Given the description of an element on the screen output the (x, y) to click on. 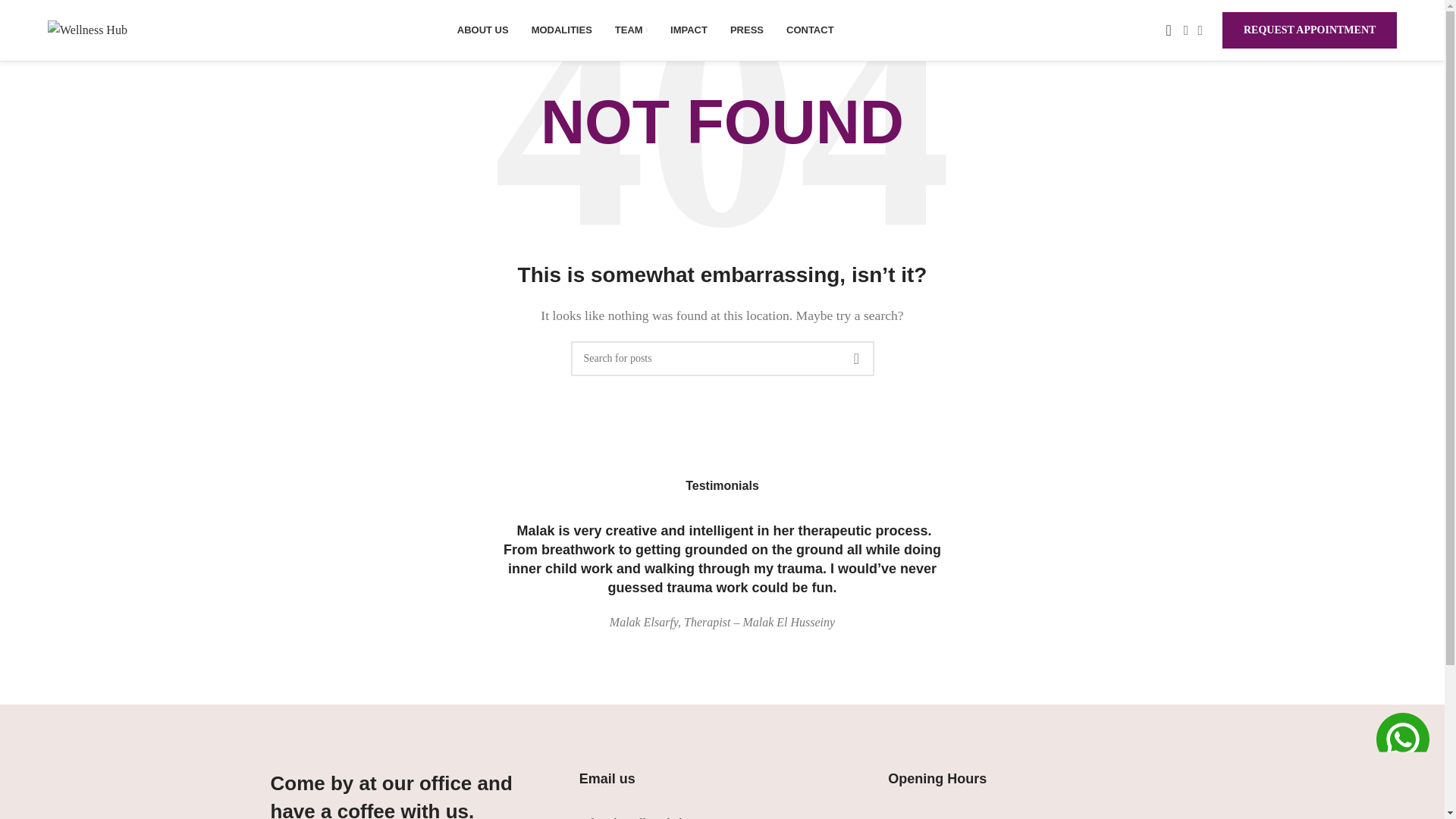
ABOUT US (482, 30)
TEAM (630, 30)
MODALITIES (561, 30)
REQUEST APPOINTMENT (1309, 30)
Search for posts (721, 358)
CONTACT (810, 30)
IMPACT (688, 30)
SEARCH (855, 358)
PRESS (746, 30)
